Given the description of an element on the screen output the (x, y) to click on. 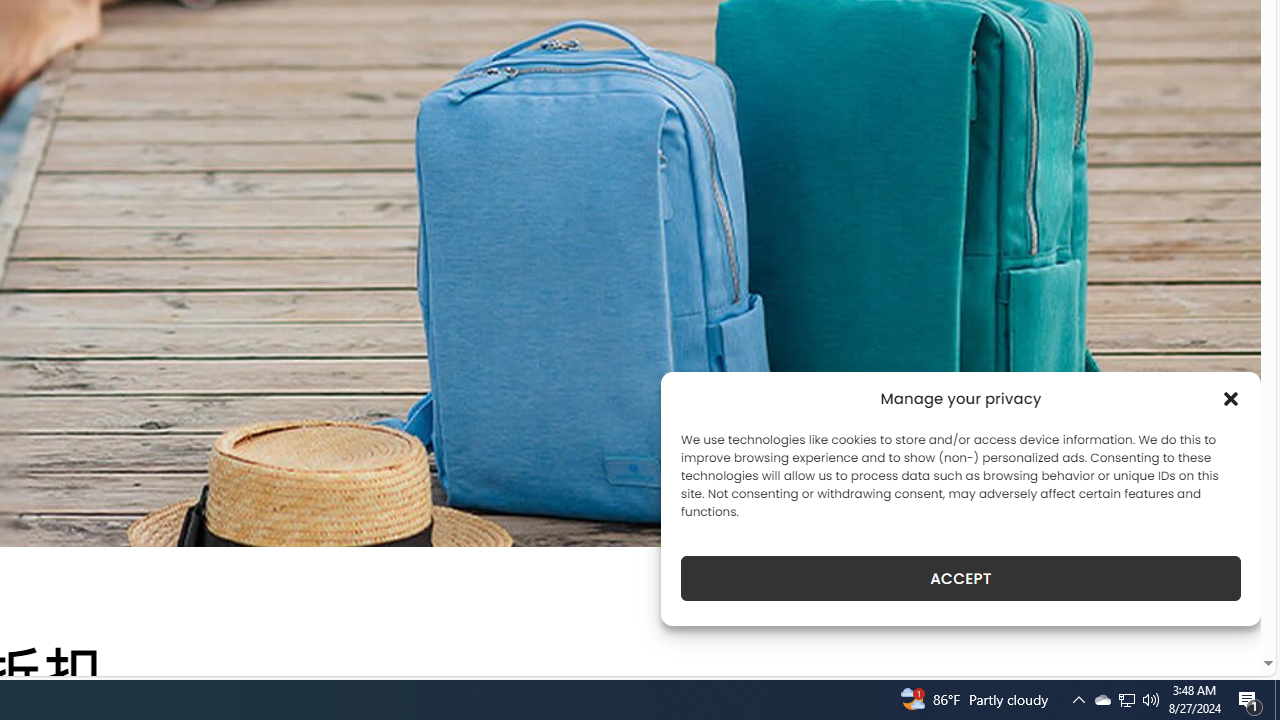
Class: cmplz-close (1231, 398)
ACCEPT (960, 578)
